Given the description of an element on the screen output the (x, y) to click on. 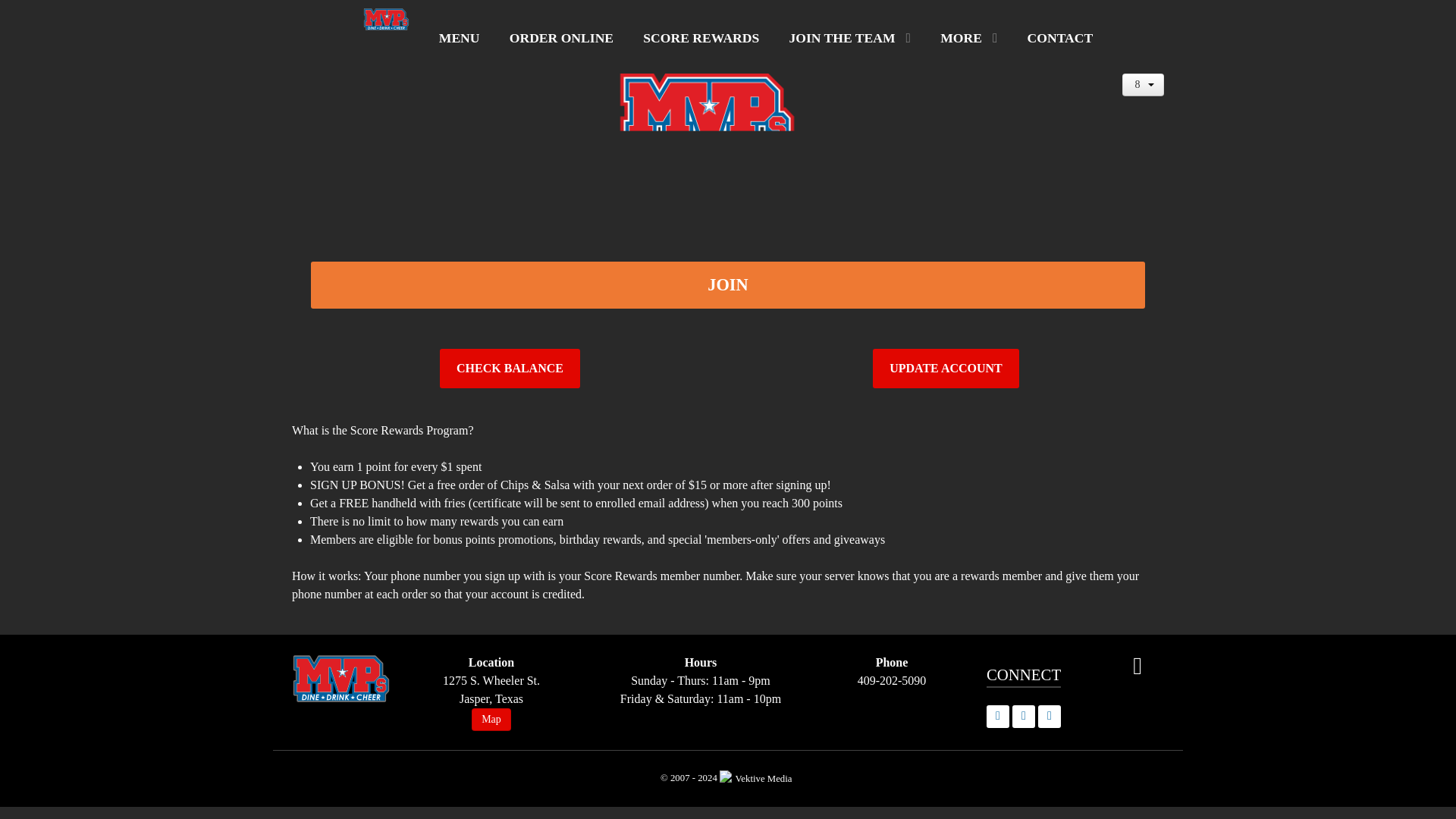
SCORE REWARDS (701, 37)
ORDER ONLINE (561, 37)
Map (491, 719)
JOIN (727, 284)
CHECK BALANCE (509, 368)
JOIN THE TEAM (850, 37)
UPDATE ACCOUNT (945, 368)
MENU (459, 37)
Home (385, 25)
CONTACT (1059, 37)
